Given the description of an element on the screen output the (x, y) to click on. 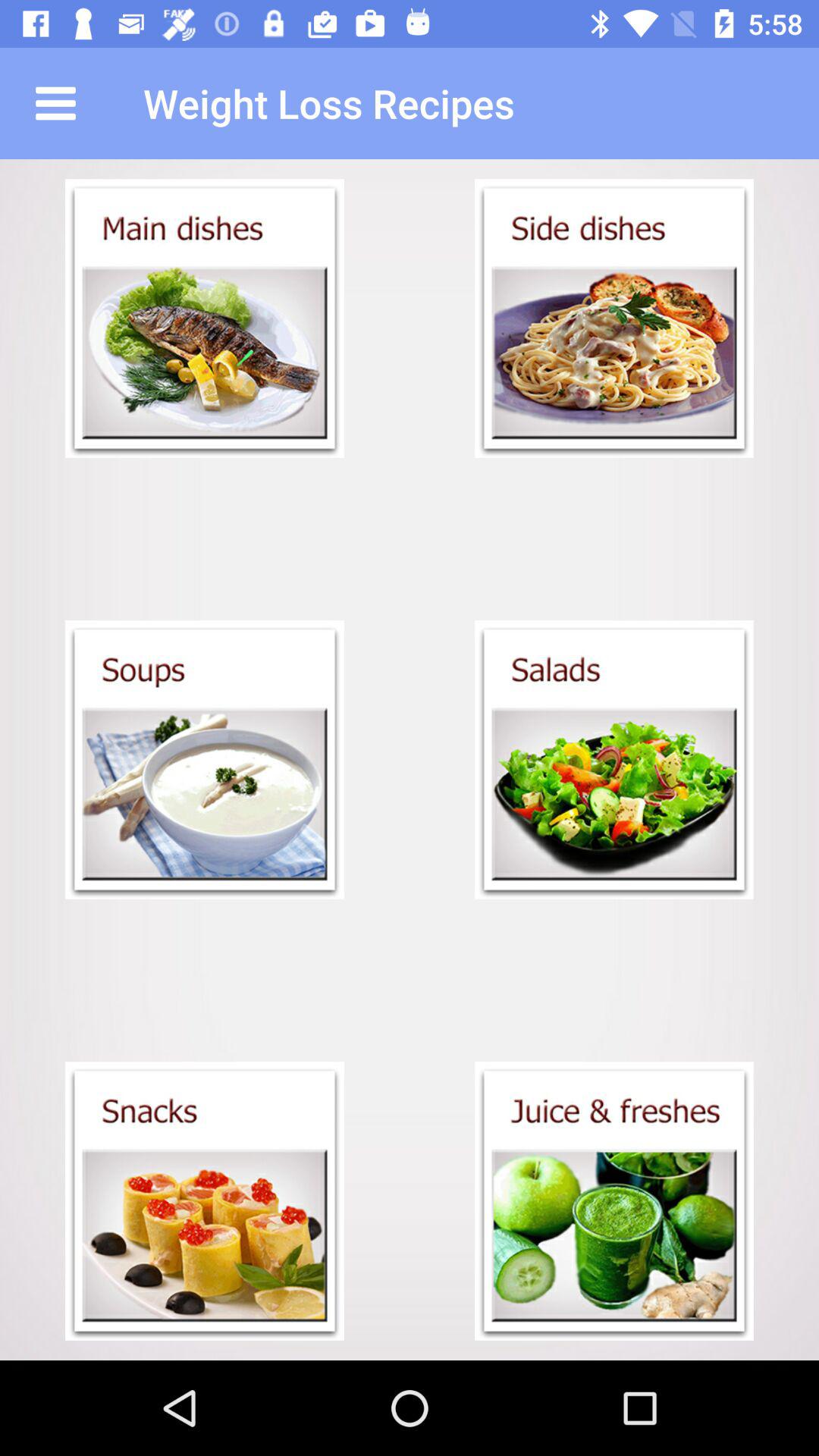
go to the soups menu open (204, 759)
